Given the description of an element on the screen output the (x, y) to click on. 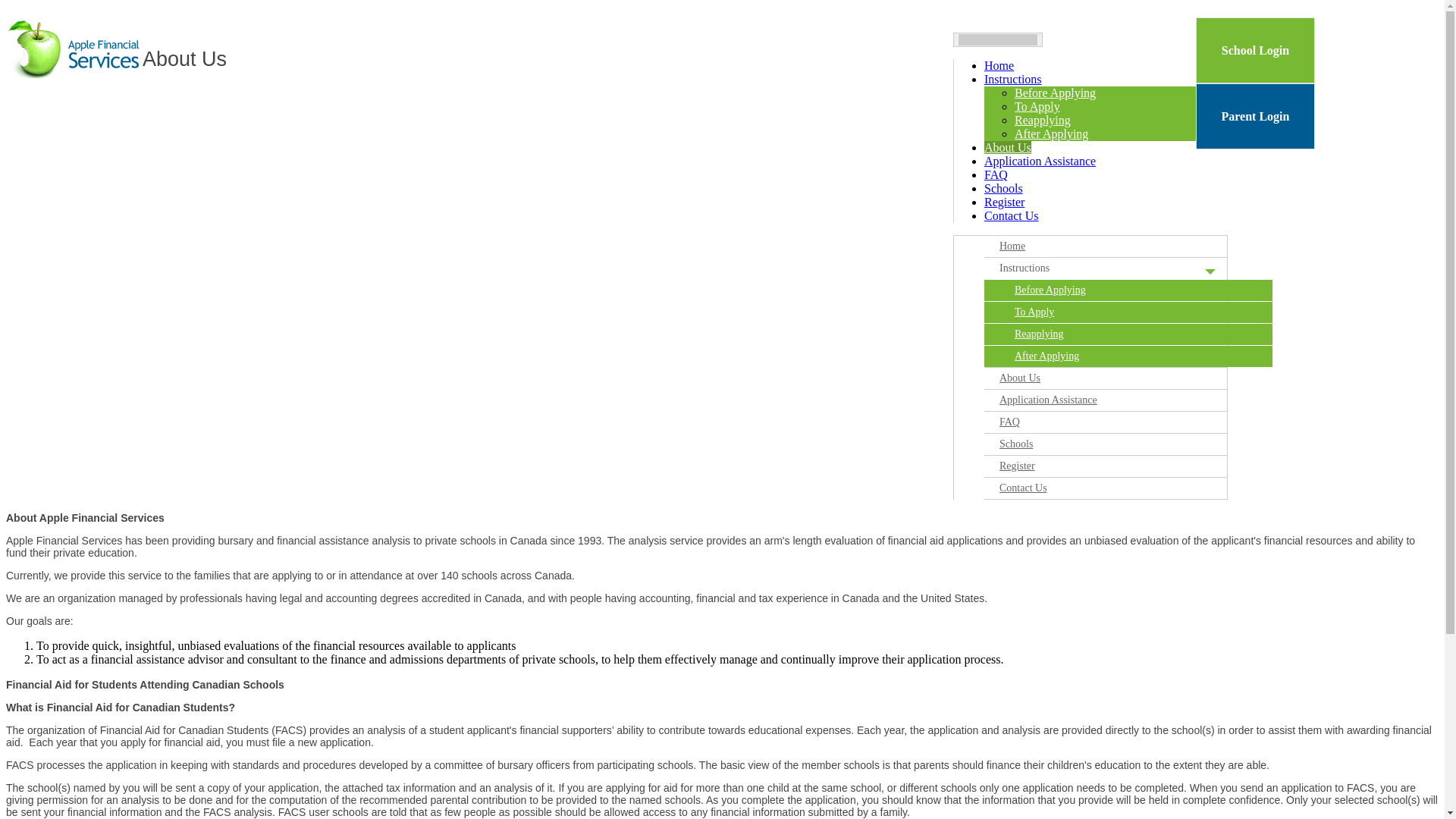
Before Applying Element type: text (1054, 92)
Application Assistance Element type: text (1039, 160)
To Apply Element type: text (1037, 106)
Schools Element type: text (1120, 444)
Parent Login Element type: text (1254, 116)
Home Element type: text (998, 65)
School Login Element type: text (1254, 50)
About Us Element type: text (1120, 378)
Register Element type: text (1120, 465)
Home Element type: text (1120, 246)
Before Applying Element type: text (1128, 290)
After Applying Element type: text (1128, 356)
Toggle navigation Element type: text (997, 39)
FAQ Element type: text (1120, 422)
FAQ Element type: text (995, 174)
Contact Us Element type: text (1011, 215)
Instructions Element type: text (1012, 78)
About Us Element type: text (1007, 147)
To Apply Element type: text (1128, 312)
Reapplying Element type: text (1042, 119)
After Applying Element type: text (1051, 133)
Register Element type: text (1004, 201)
Instructions Element type: text (1120, 268)
Contact Us Element type: text (1120, 487)
Schools Element type: text (1003, 188)
Application Assistance Element type: text (1120, 400)
Reapplying Element type: text (1128, 334)
